Given the description of an element on the screen output the (x, y) to click on. 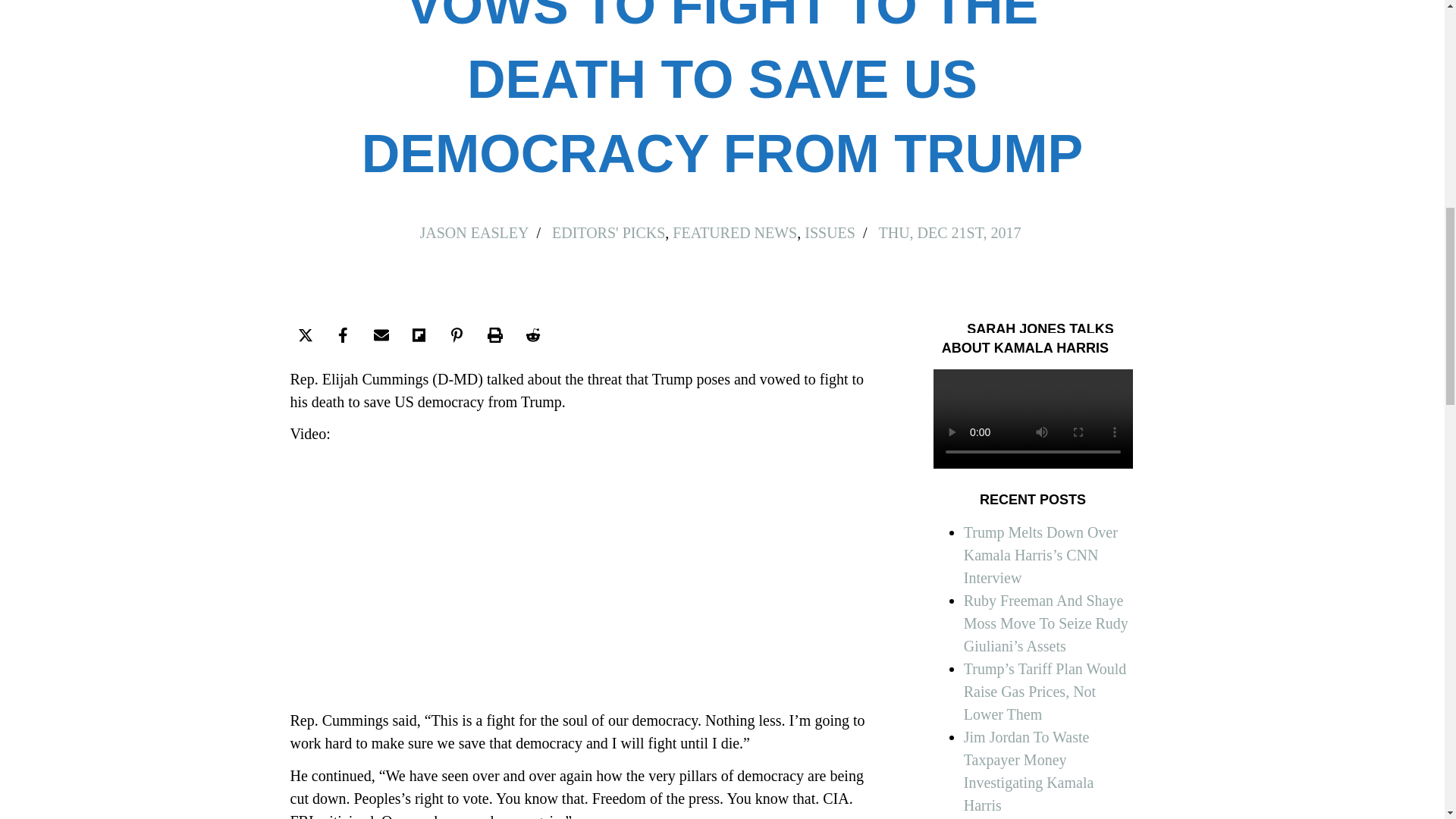
JASON EASLEY (474, 232)
ISSUES (830, 232)
Posts by Jason Easley (474, 232)
THU, DEC 21ST, 2017 (950, 232)
EDITORS' PICKS (608, 232)
FEATURED NEWS (734, 232)
